Given the description of an element on the screen output the (x, y) to click on. 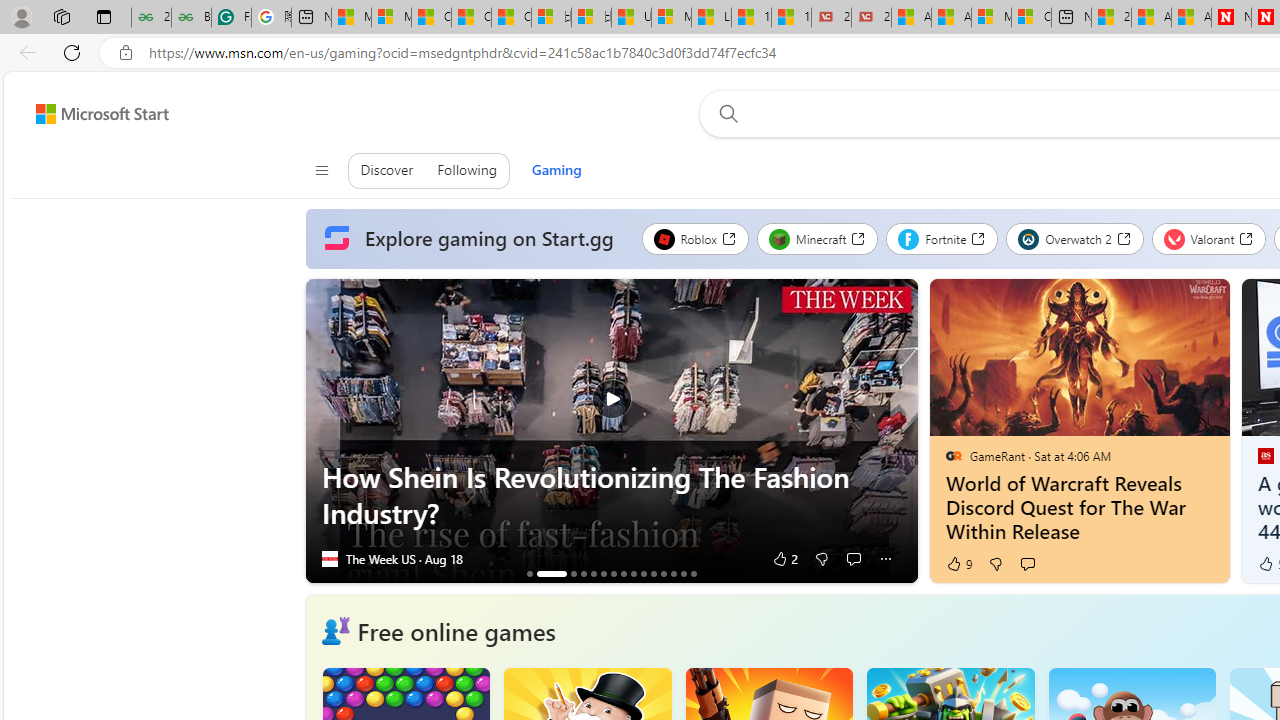
Explore gaming on Start.gg (473, 239)
AS USA (1264, 455)
AutomationID: tab_nativead-infopane-3 (573, 573)
Hide this story (1169, 302)
AutomationID: tab_nativead-infopane-11 (653, 573)
25 Basic Linux Commands For Beginners - GeeksforGeeks (151, 17)
Valorant (1208, 238)
Roblox (694, 238)
AutomationID: tab_nativead-resinfopane-6 (603, 573)
20 Ways to Boost Your Protein Intake at Every Meal (1111, 17)
